Given the description of an element on the screen output the (x, y) to click on. 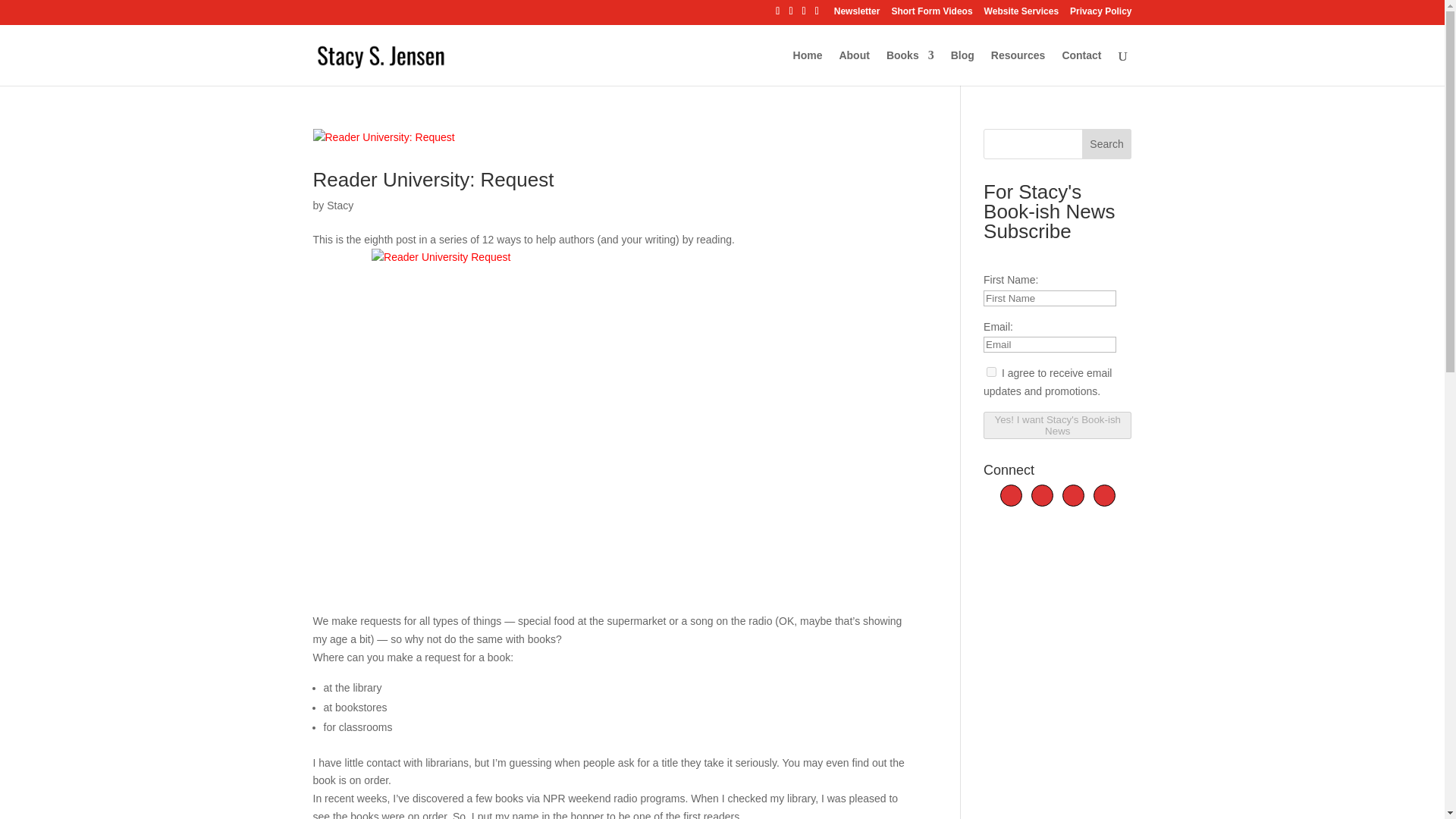
Reader University: Request (433, 179)
Books (910, 67)
Website Services (1021, 14)
Stacy (339, 205)
Search (1106, 143)
1 (991, 371)
Newsletter (857, 14)
Short Form Videos (931, 14)
Posts by Stacy (339, 205)
Resources (1018, 67)
Privacy Policy (1100, 14)
Contact (1080, 67)
